Given the description of an element on the screen output the (x, y) to click on. 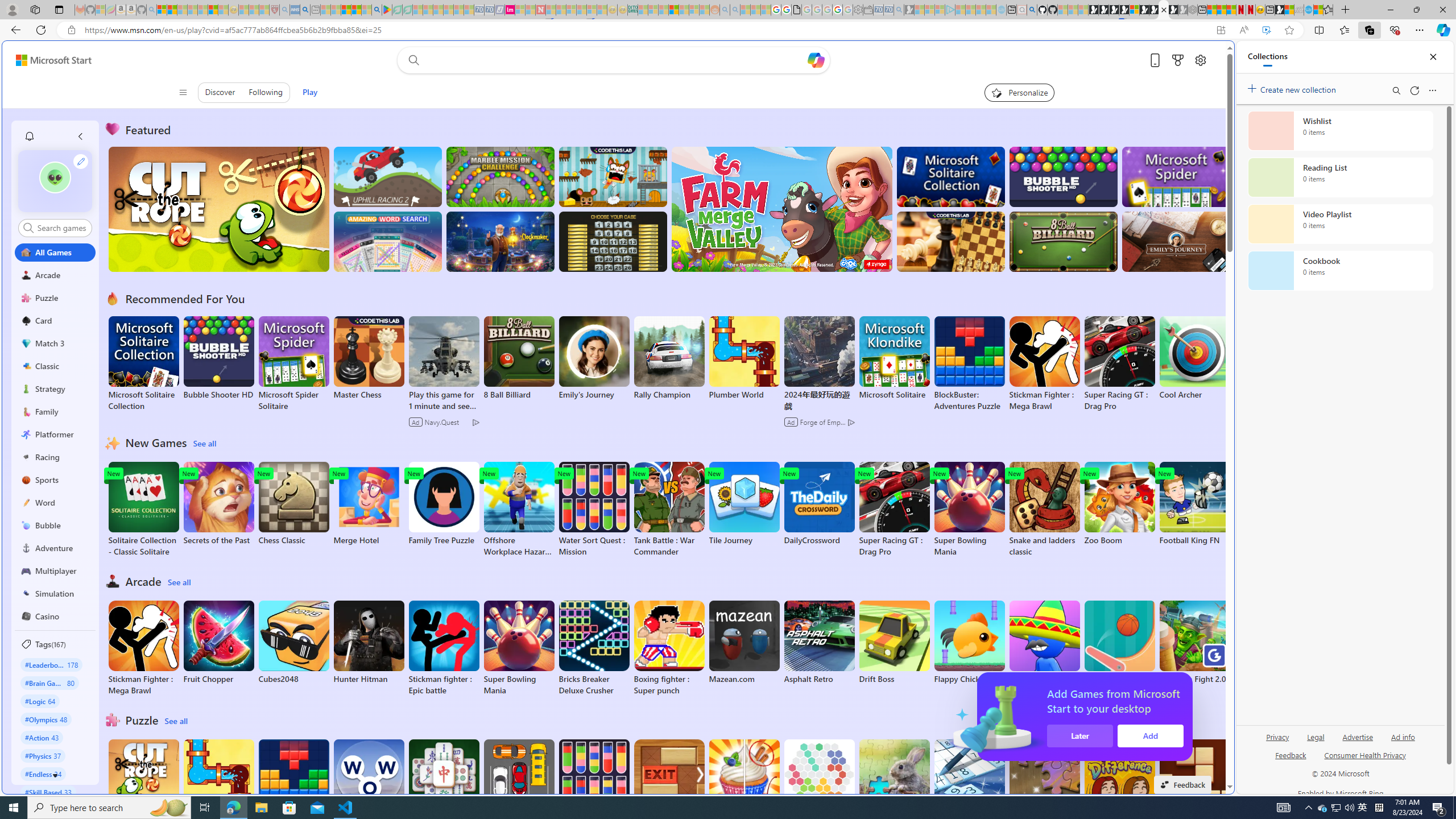
Expert Portfolios (673, 9)
Consumer Health Privacy (1364, 759)
Super Bowling Mania (518, 648)
Tile Journey (744, 503)
World - MSN (1288, 9)
